Given the description of an element on the screen output the (x, y) to click on. 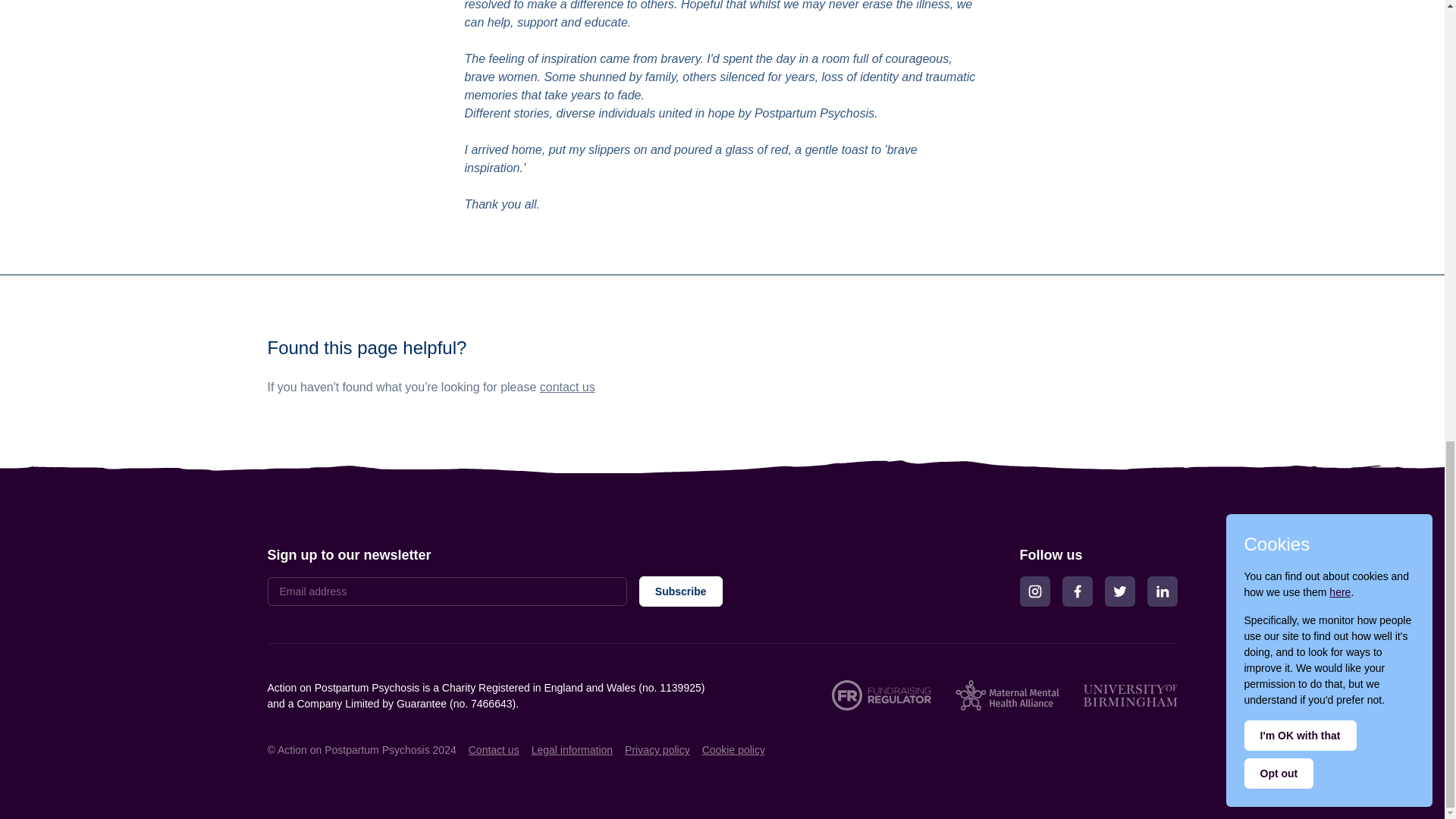
contact us (567, 386)
Legal information (571, 750)
Contact us (493, 750)
Cookie policy (733, 750)
Privacy policy (657, 750)
Subscribe (680, 591)
Subscribe (680, 591)
